Given the description of an element on the screen output the (x, y) to click on. 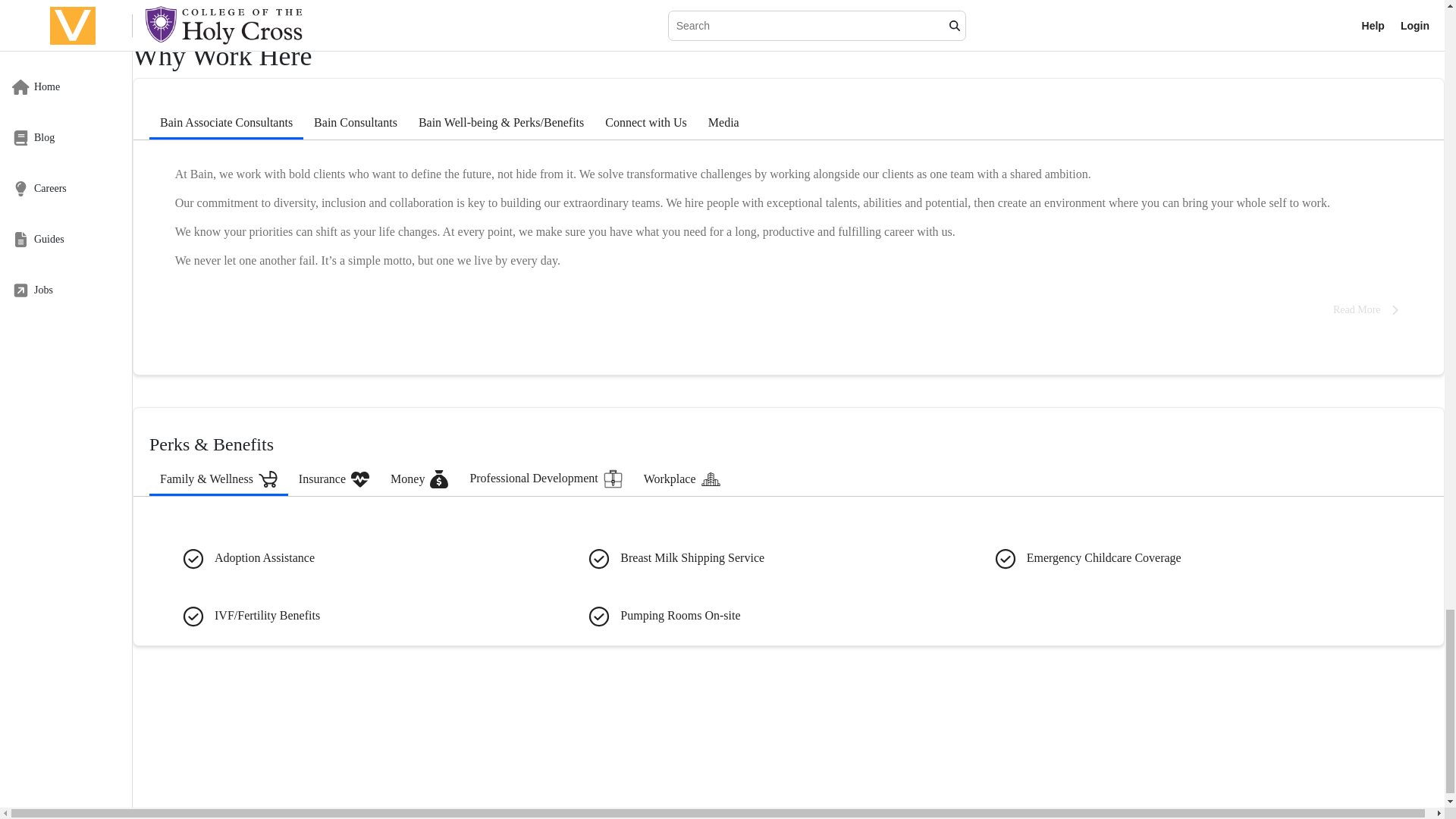
3rd party ad content (788, 748)
